Given the description of an element on the screen output the (x, y) to click on. 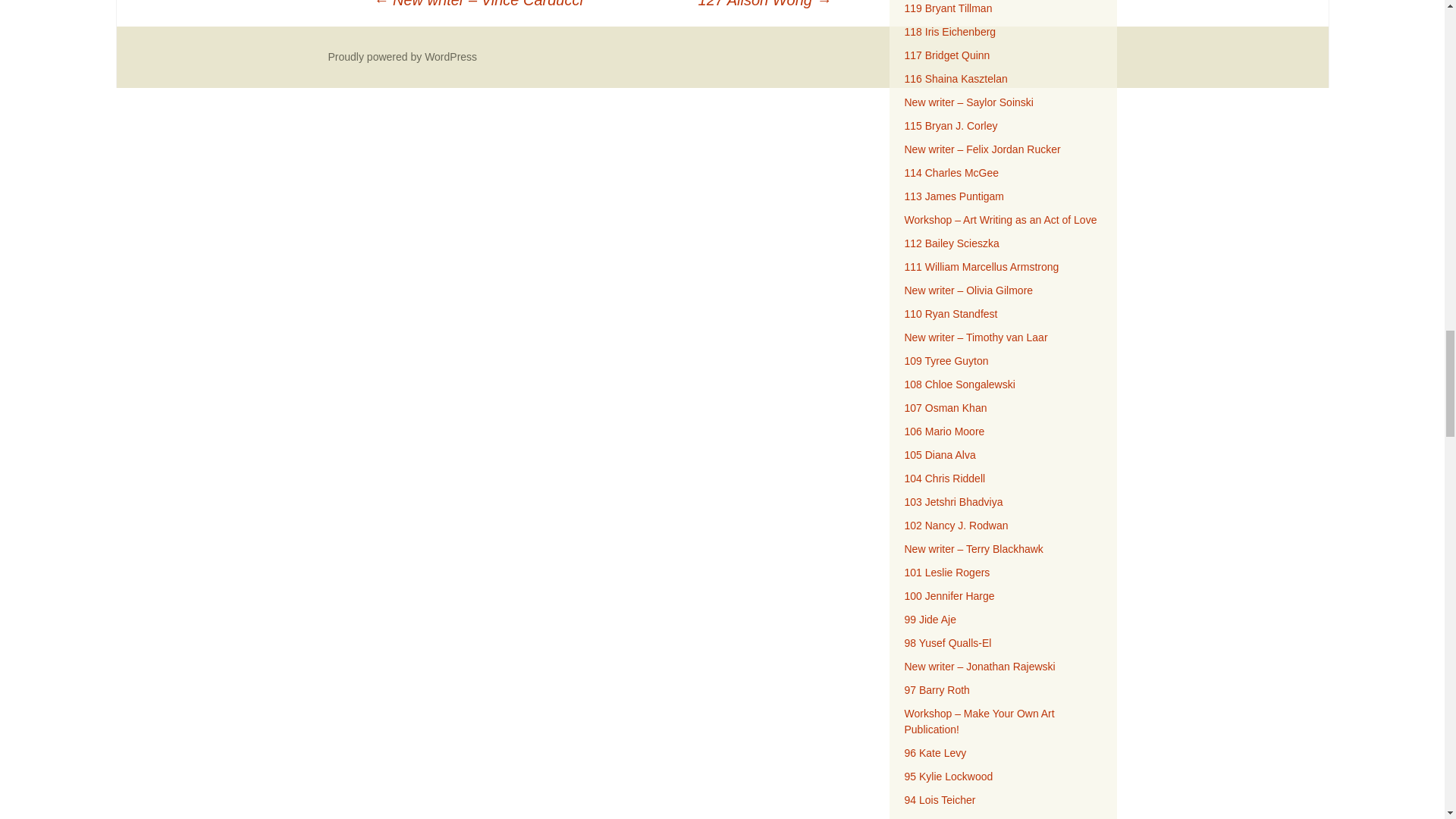
Semantic Personal Publishing Platform (402, 56)
